Given the description of an element on the screen output the (x, y) to click on. 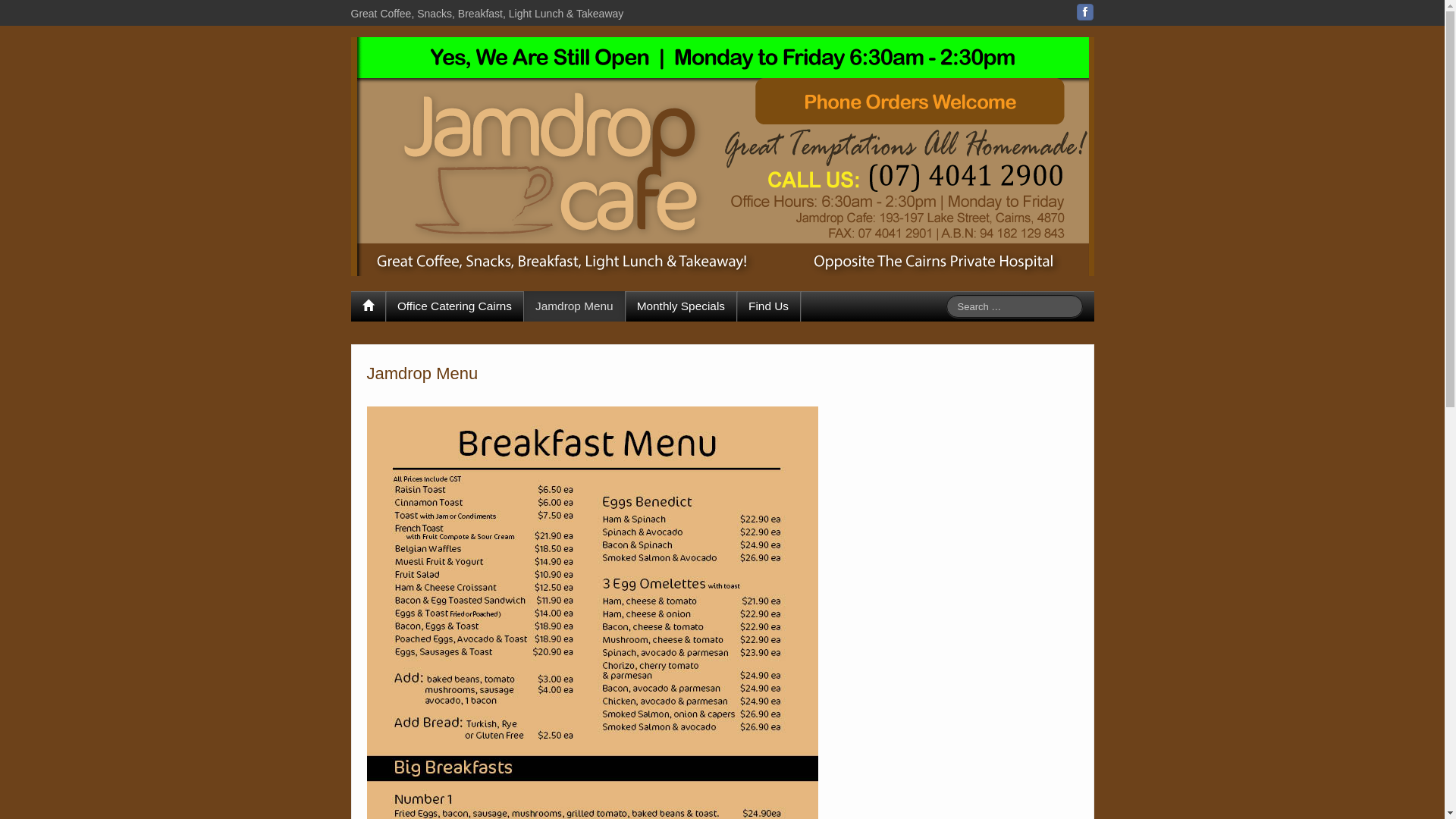
Jam Drop Cafe Cairns - Office Catering Cairns Facebook Element type: hover (1084, 11)
Monthly Specials Element type: text (680, 306)
Office Catering Cairns Element type: text (454, 306)
Find Us Element type: text (768, 306)
Jamdrop Menu Element type: text (574, 306)
